Given the description of an element on the screen output the (x, y) to click on. 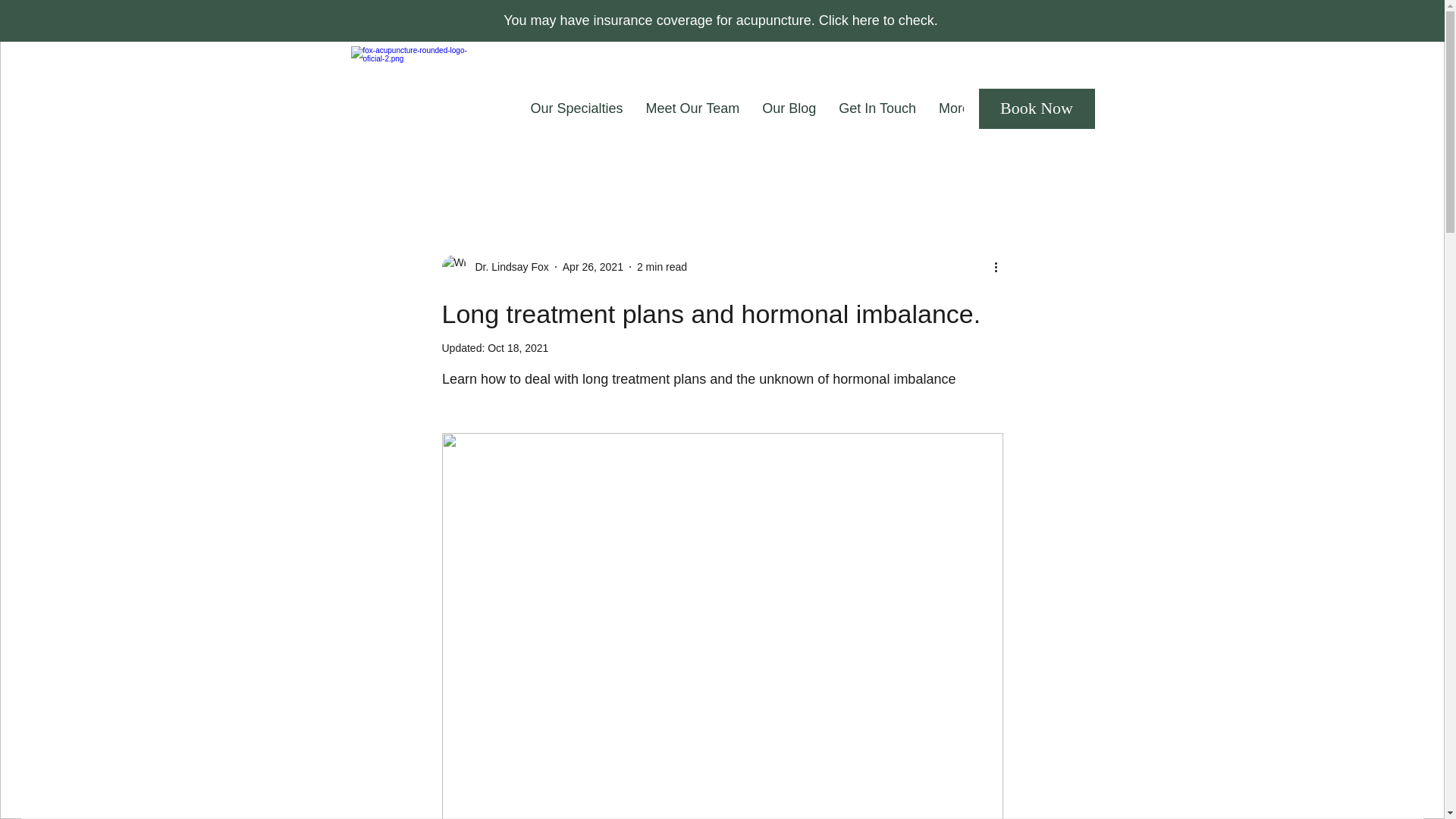
2 min read (662, 266)
Book Now (1036, 108)
Apr 26, 2021 (592, 266)
Get In Touch (877, 108)
Dr. Lindsay Fox (506, 267)
Our Blog (789, 108)
Meet Our Team (692, 108)
Oct 18, 2021 (517, 347)
Dr. Lindsay Fox (494, 266)
